Given the description of an element on the screen output the (x, y) to click on. 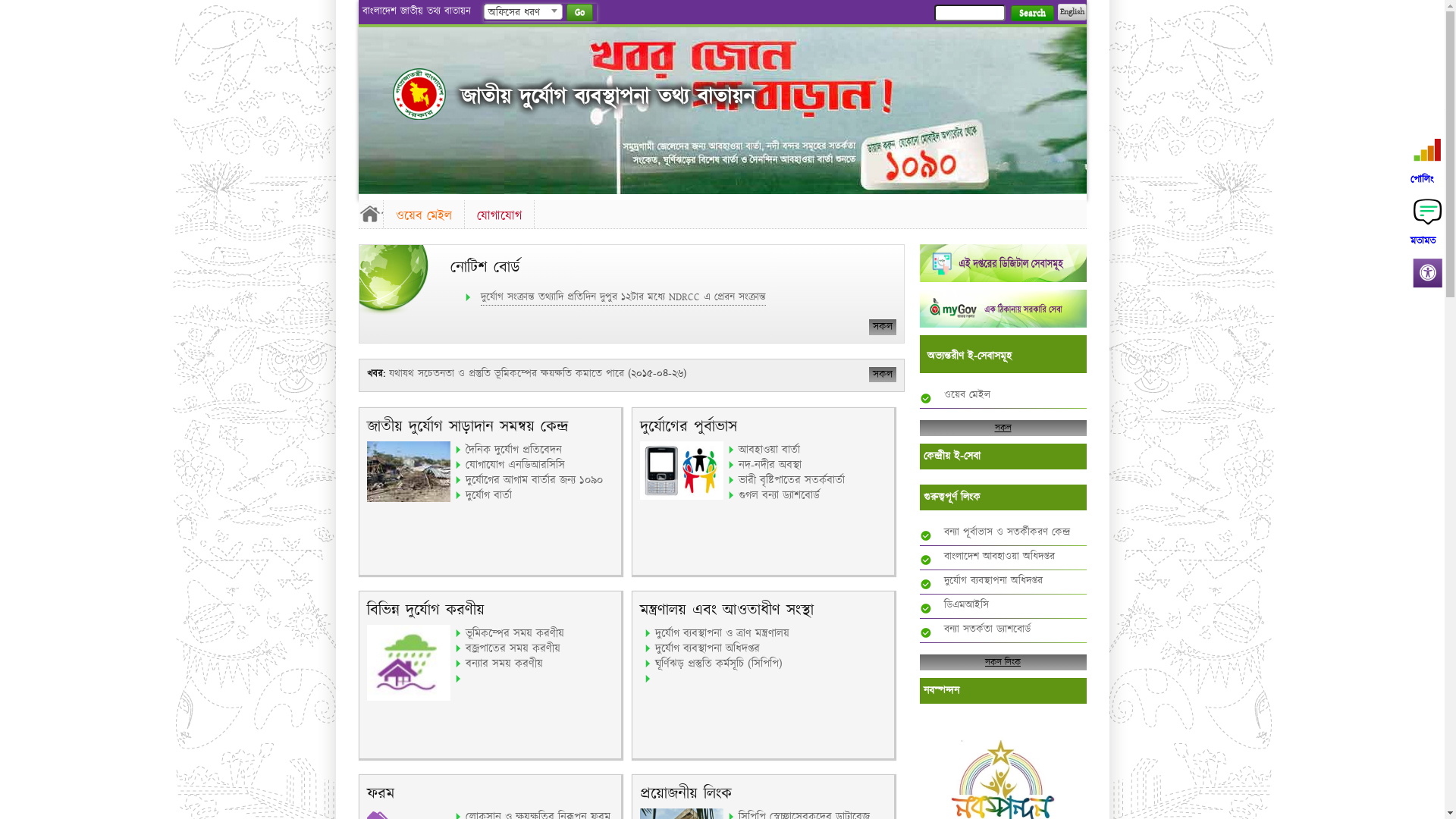
Next Element type: text (1071, 106)

					
				 Element type: hover (418, 93)
English Element type: text (1071, 11)
Search Element type: text (1031, 13)
Go Element type: text (578, 12)
Previous Element type: text (371, 106)
